Given the description of an element on the screen output the (x, y) to click on. 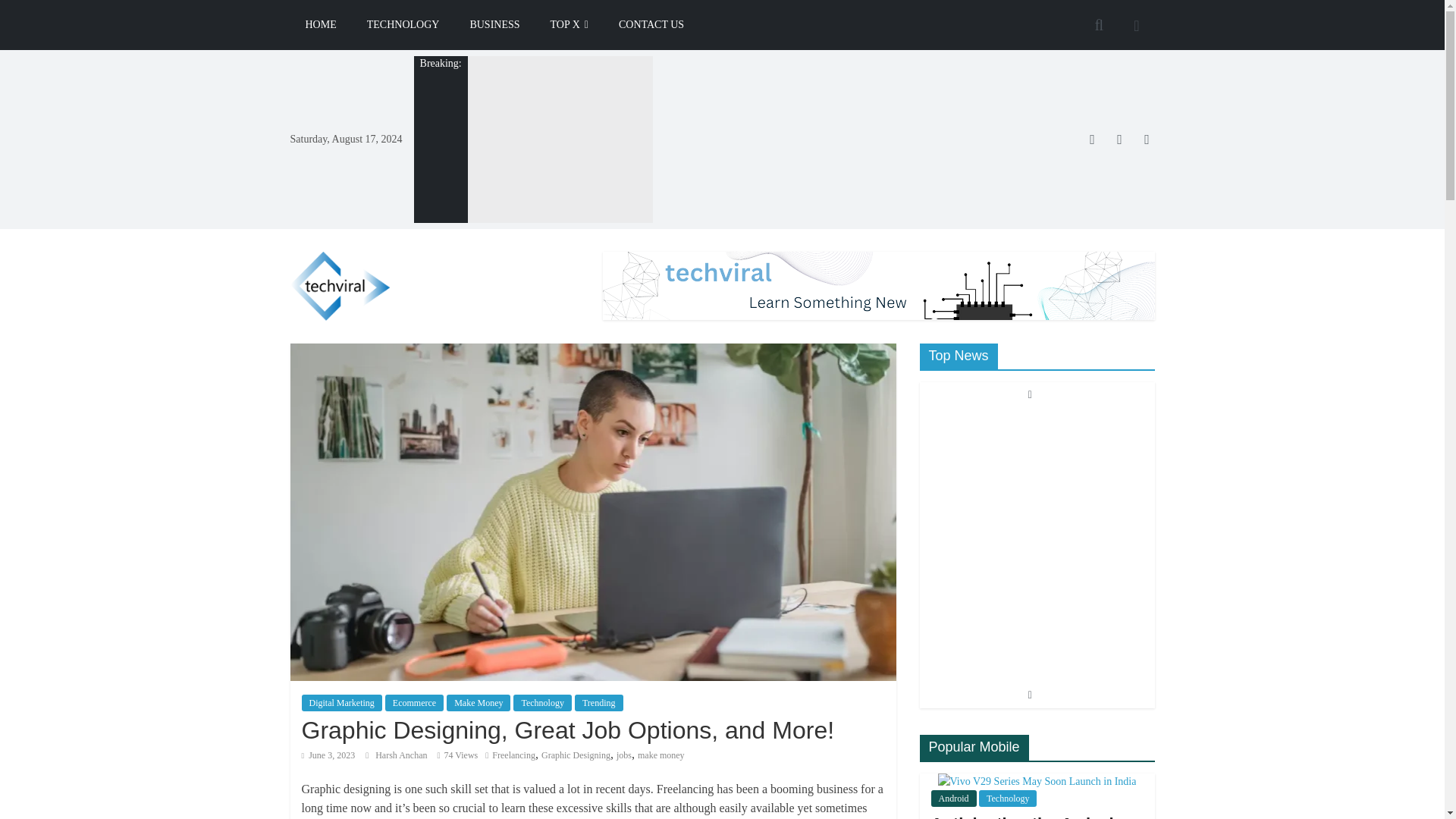
12:58 pm (328, 755)
Freelancing (513, 755)
Trending (599, 702)
Harsh Anchan (402, 755)
June 3, 2023 (328, 755)
BUSINESS (494, 24)
Make Money (478, 702)
Graphic Designing (575, 755)
Digital Marketing (341, 702)
